Given the description of an element on the screen output the (x, y) to click on. 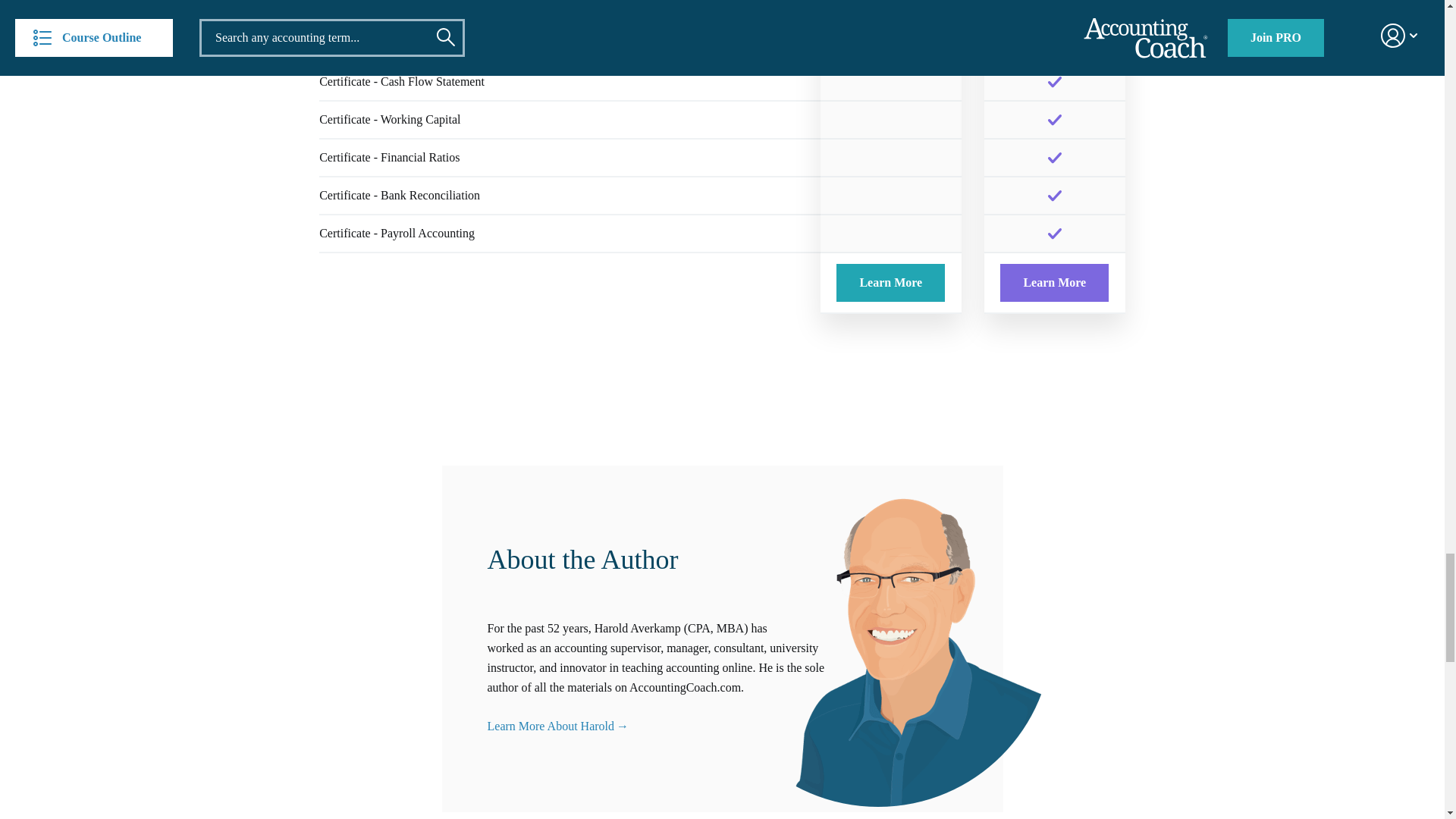
Learn More (889, 282)
